Given the description of an element on the screen output the (x, y) to click on. 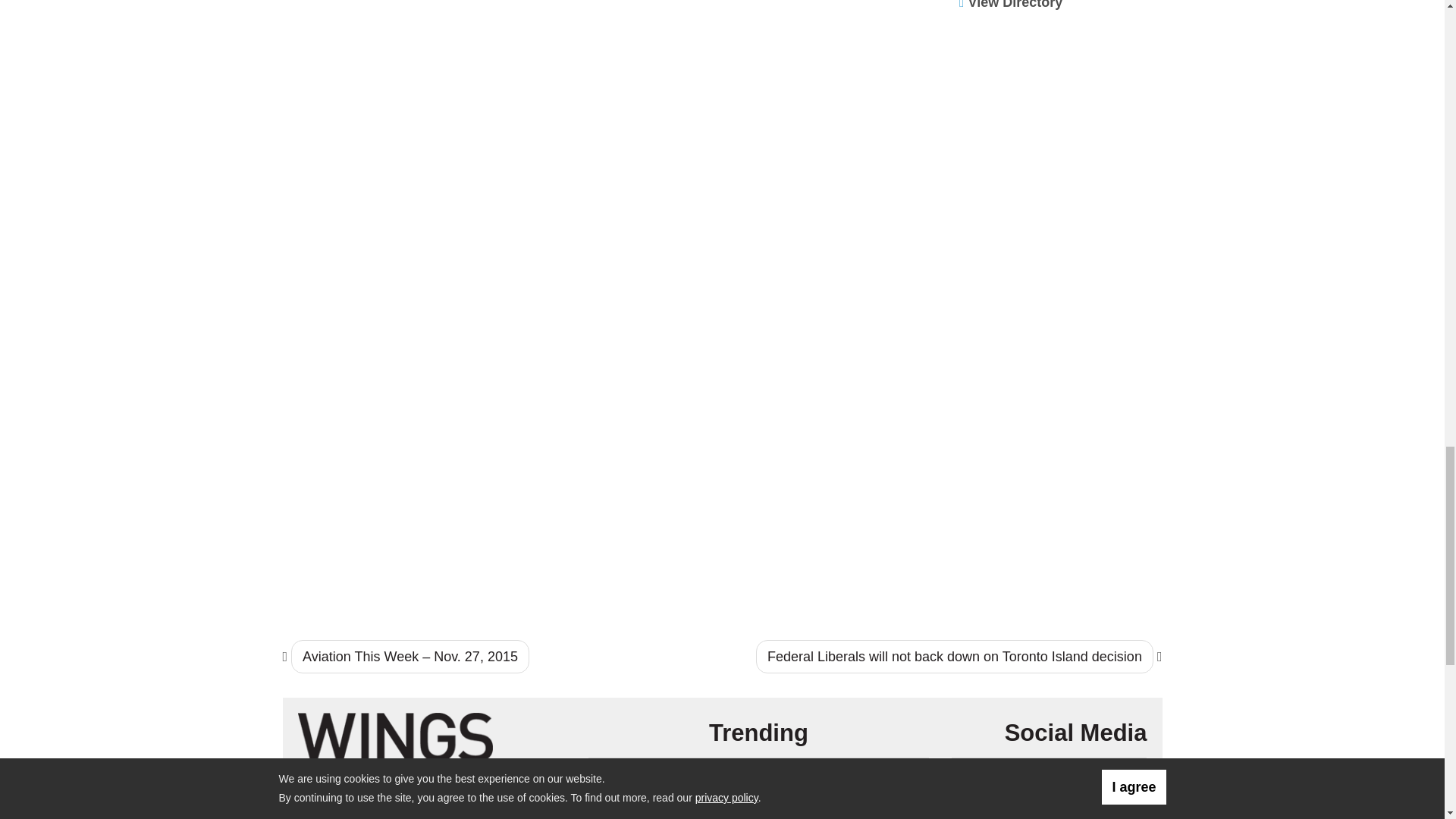
3rd party ad content (1060, 513)
Wings Magazine (395, 735)
3rd party ad content (1060, 316)
3rd party ad content (1060, 118)
